Given the description of an element on the screen output the (x, y) to click on. 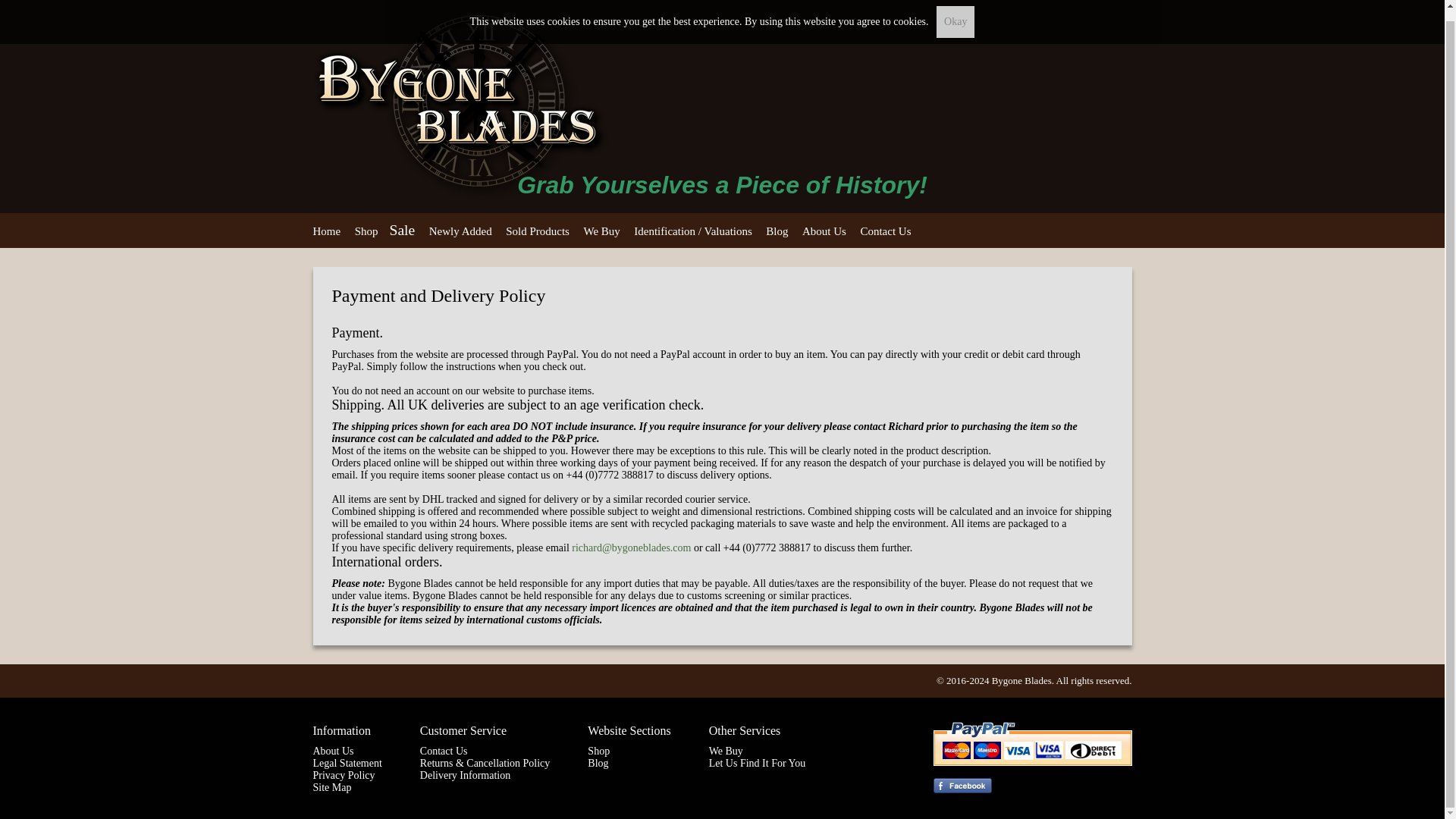
Site Map (331, 787)
About Us (333, 750)
We Buy (601, 231)
Delivery Information (465, 775)
Shop (599, 750)
Sold Products (537, 231)
Newly Added (460, 231)
Let Us Find It For You (757, 763)
Blog (776, 231)
We Buy (725, 750)
